Given the description of an element on the screen output the (x, y) to click on. 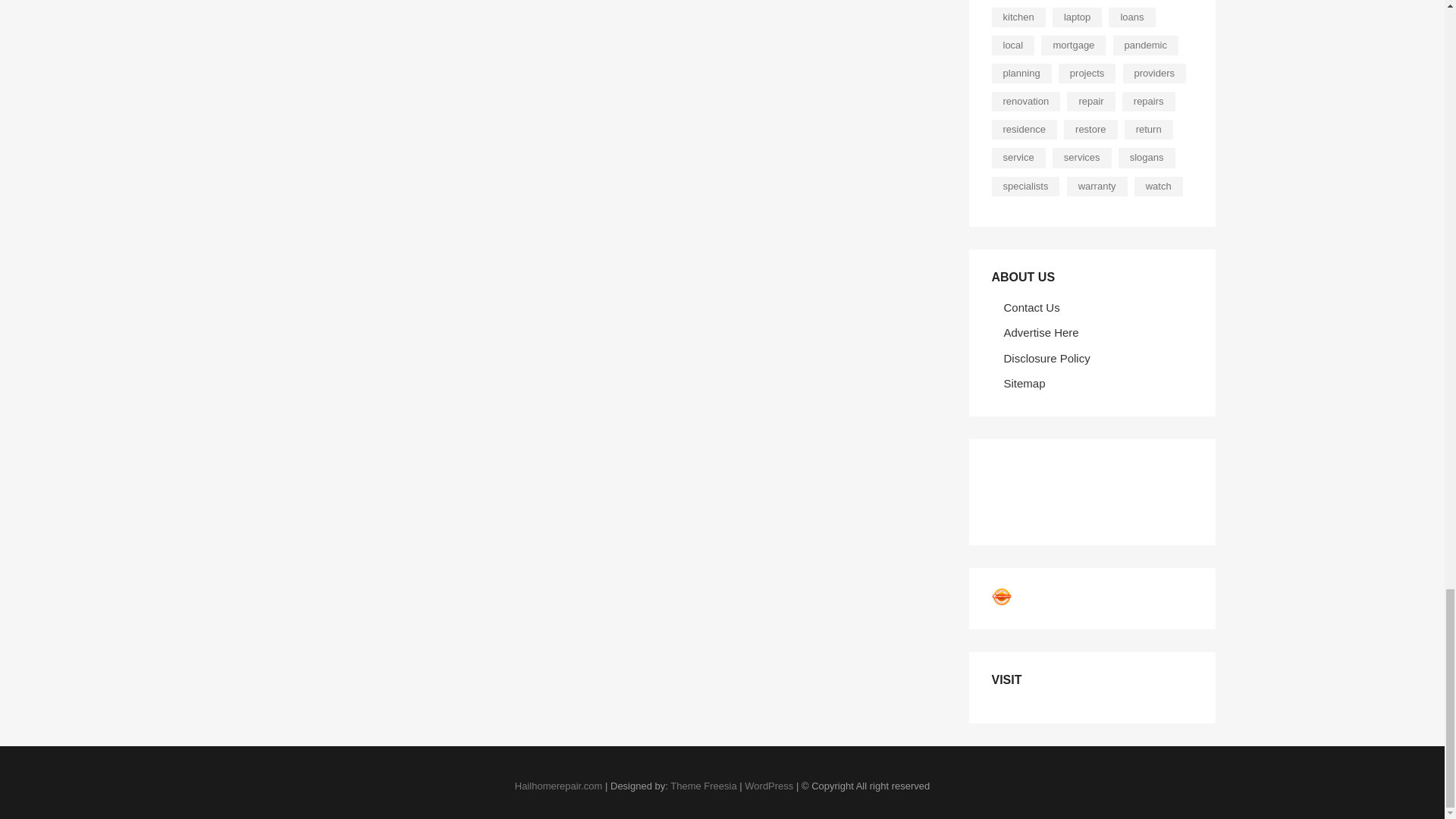
Seedbacklink (1001, 596)
Theme Freesia (702, 785)
WordPress (768, 785)
Hailhomerepair.com (558, 785)
